Given the description of an element on the screen output the (x, y) to click on. 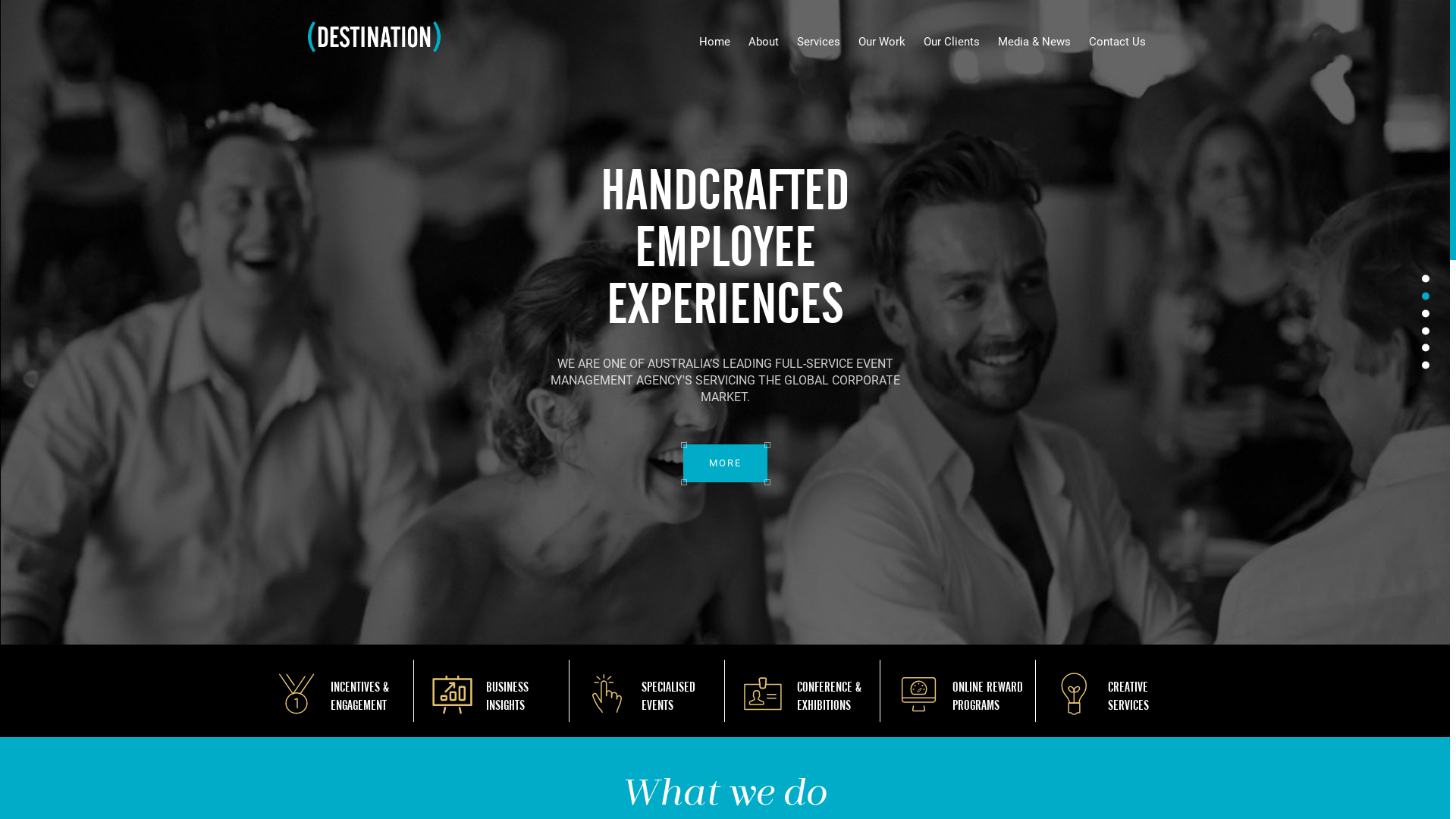
CONFERENCE & EXHIBITIONS Element type: text (829, 695)
About Element type: text (763, 41)
INCENTIVES & ENGAGEMENT Element type: text (359, 695)
SPECIALISED EVENTS Element type: text (668, 695)
MORE Element type: text (719, 478)
CREATIVE SERVICES Element type: text (1127, 695)
Media & News Element type: text (1033, 41)
Services Element type: text (818, 41)
Contact Us Element type: text (1116, 41)
ONLINE REWARD PROGRAMS Element type: text (987, 695)
MORE Element type: text (709, 534)
BUSINESS INSIGHTS Element type: text (507, 695)
Our Clients Element type: text (951, 41)
Our Work Element type: text (881, 41)
Home Element type: text (714, 41)
